Given the description of an element on the screen output the (x, y) to click on. 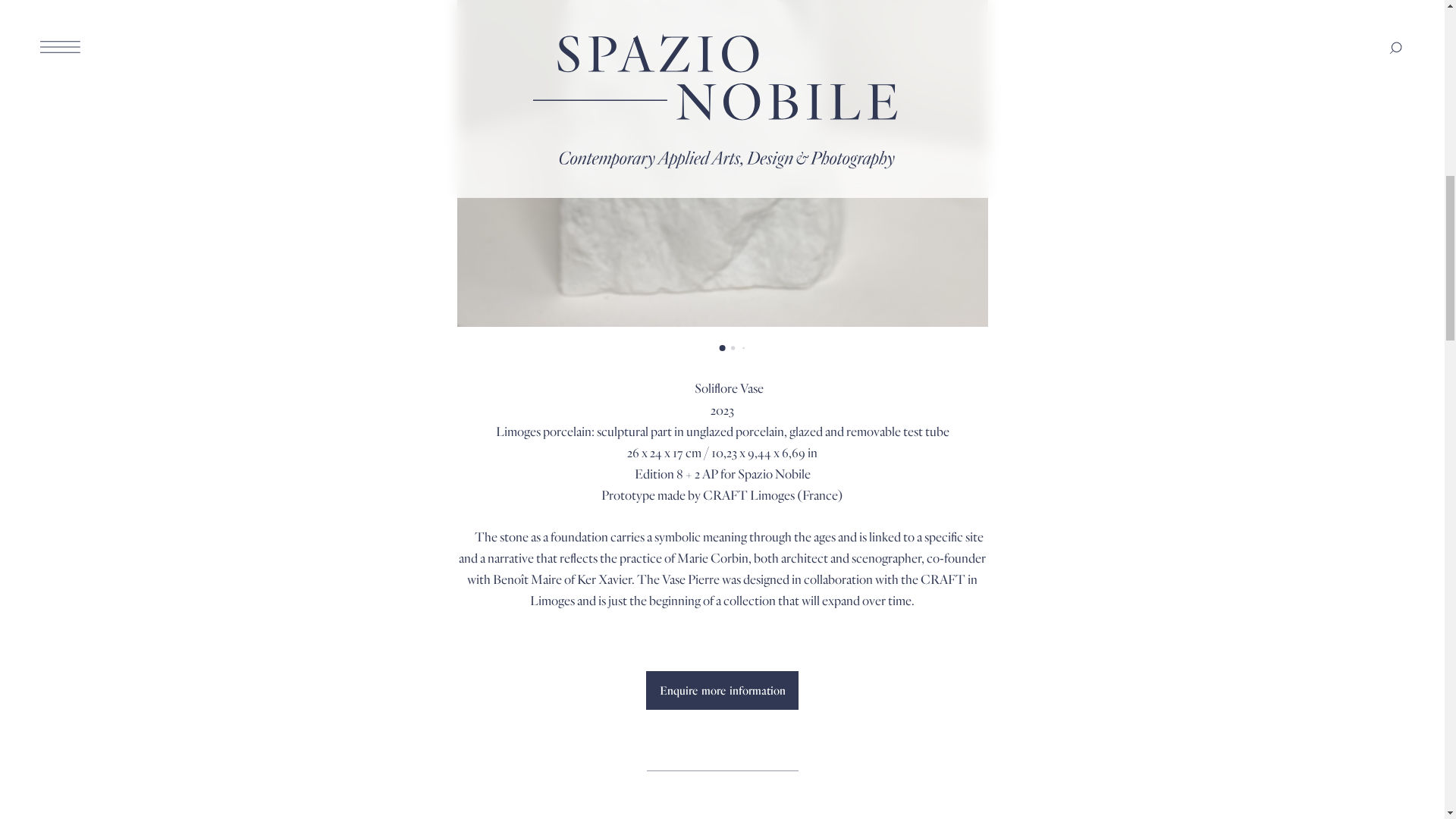
Page 5 (722, 568)
Enquire more information (721, 690)
Page 5 (722, 493)
